Given the description of an element on the screen output the (x, y) to click on. 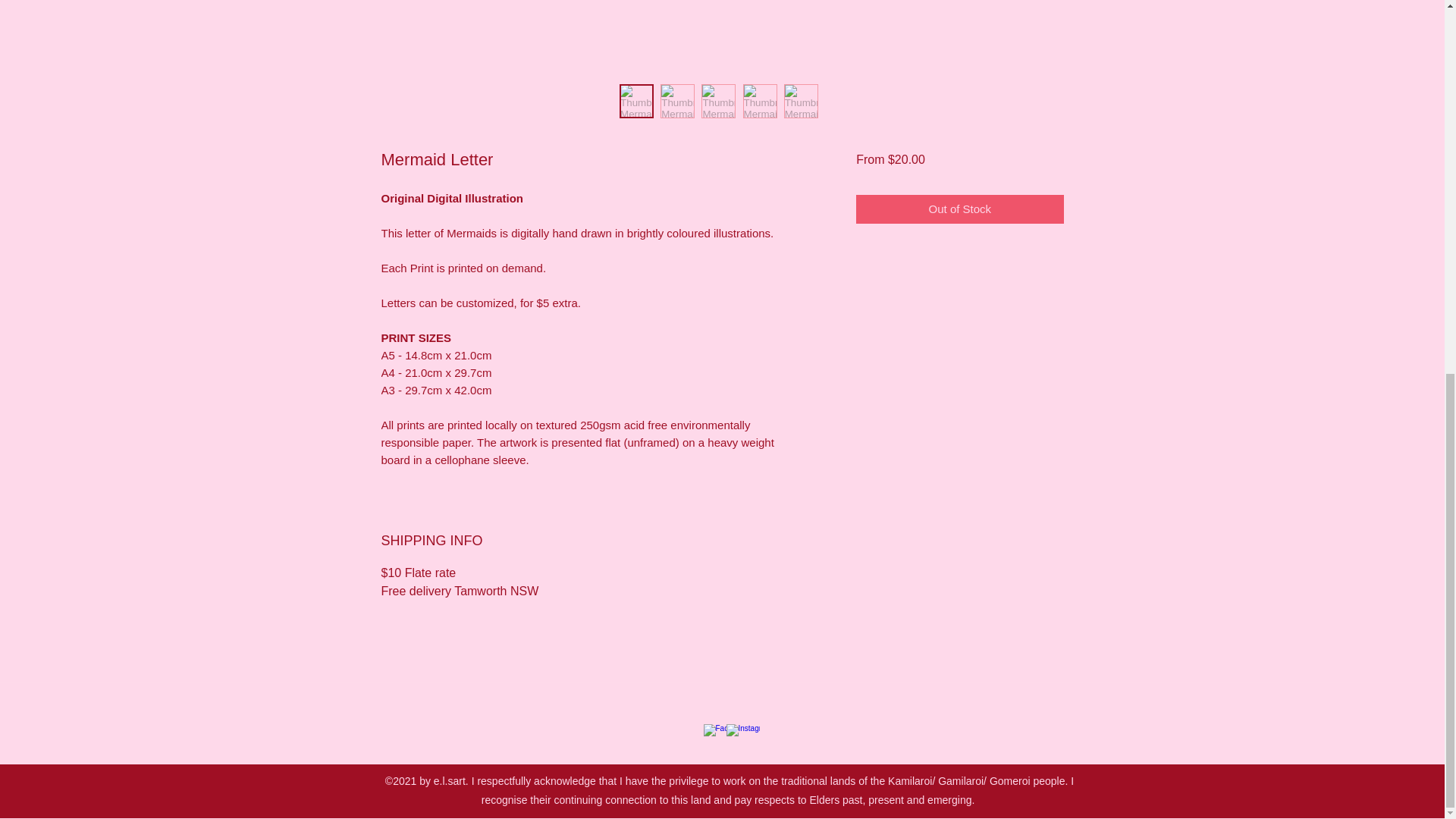
Out of Stock (959, 209)
